Given the description of an element on the screen output the (x, y) to click on. 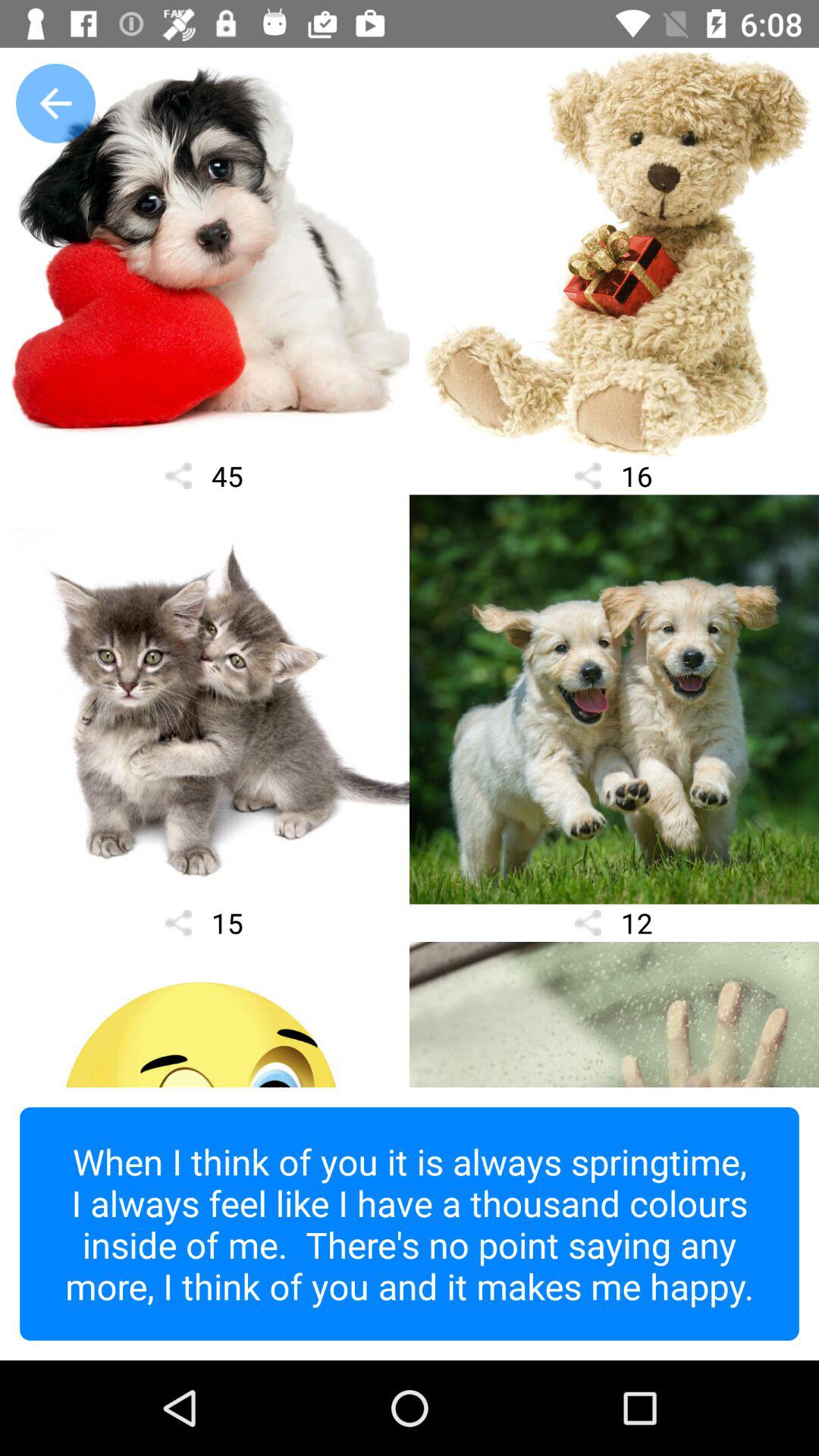
go back (55, 103)
